Given the description of an element on the screen output the (x, y) to click on. 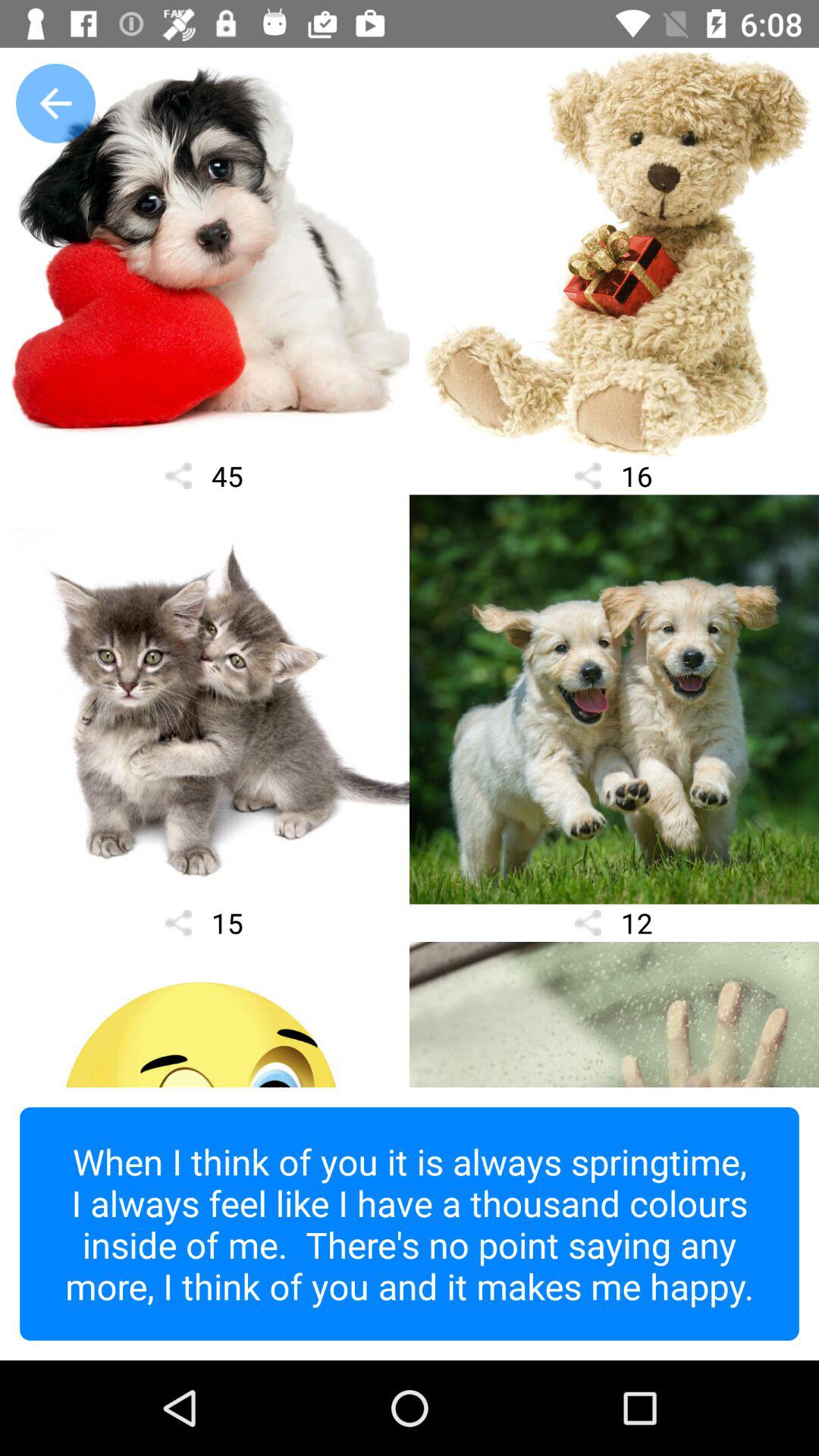
go back (55, 103)
